Given the description of an element on the screen output the (x, y) to click on. 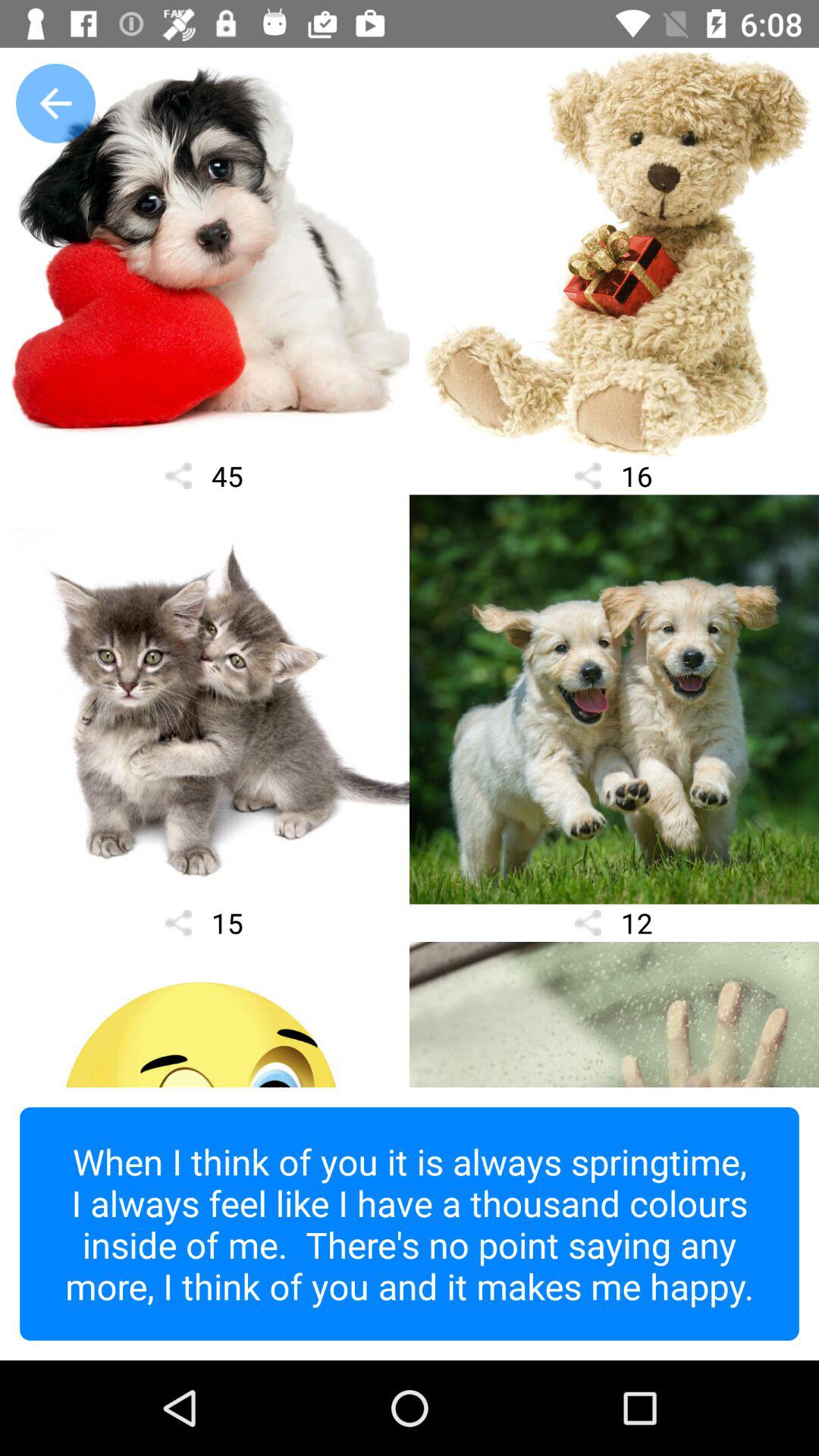
go back (55, 103)
